Given the description of an element on the screen output the (x, y) to click on. 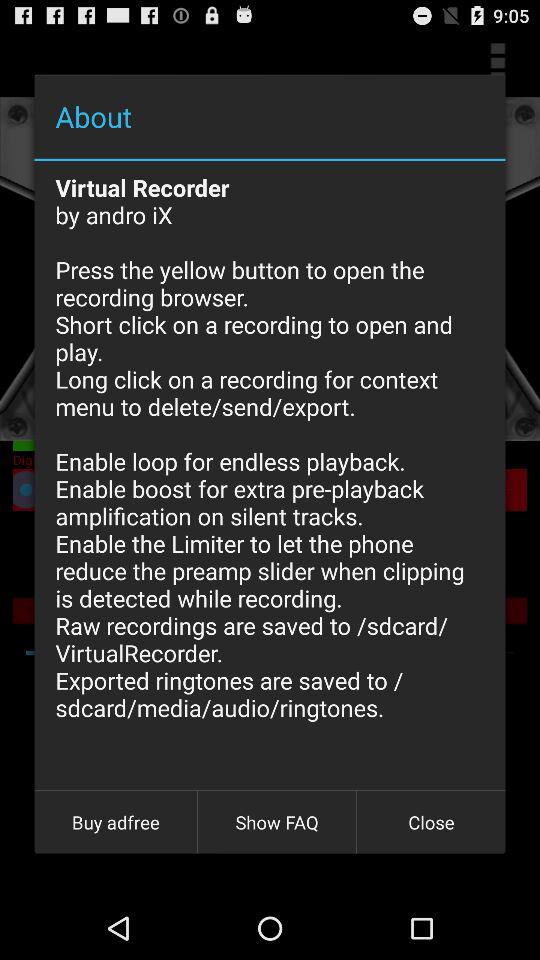
choose the item next to buy adfree item (277, 821)
